Given the description of an element on the screen output the (x, y) to click on. 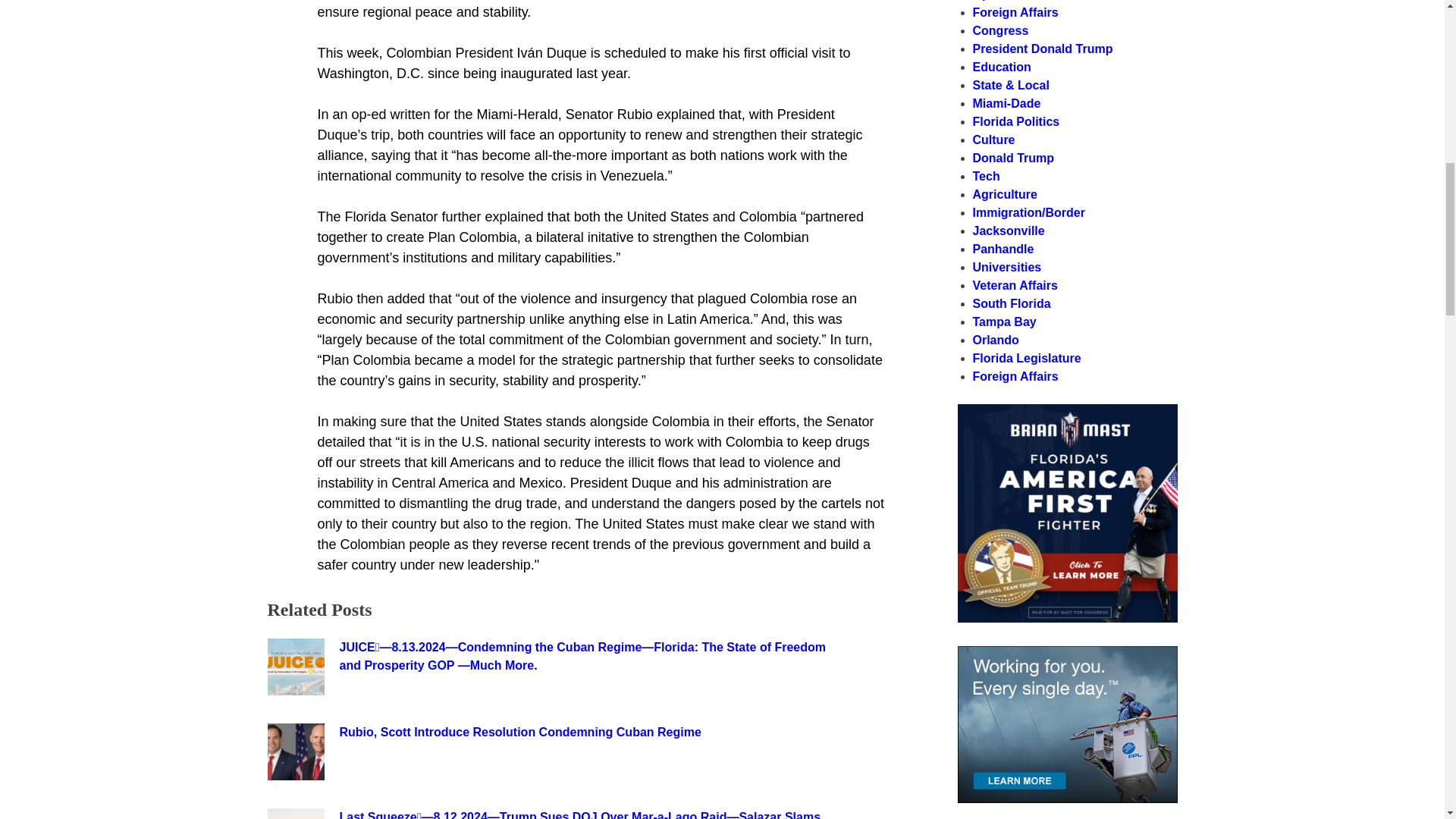
Search (1138, 419)
Search (1138, 419)
Partnering To Reduce Recidivism (1066, 617)
Rubio, Scott Introduce Resolution Condemning Cuban Regime (589, 732)
Search (1138, 419)
